Given the description of an element on the screen output the (x, y) to click on. 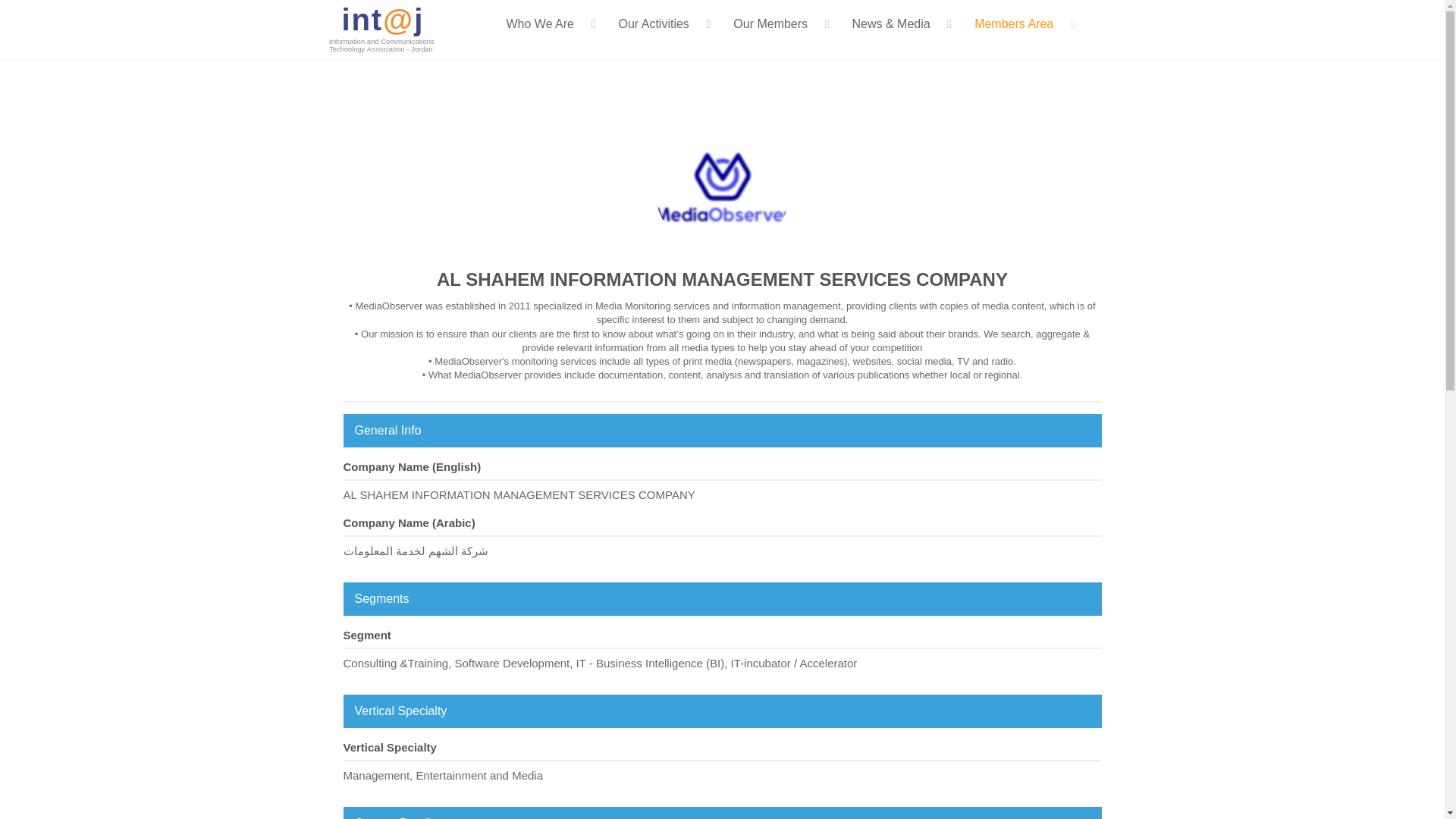
AL SHAHEM INFORMATION MANAGEMENT SERVICES COMPANY (721, 278)
Members Area (1024, 23)
Our Activities (664, 23)
Who We Are (551, 23)
AL SHAHEM INFORMATION MANAGEMENT SERVICES COMPANY  (721, 278)
AL SHAHEM INFORMATION MANAGEMENT SERVICES COMPANY  (722, 187)
Our Members (781, 23)
